Given the description of an element on the screen output the (x, y) to click on. 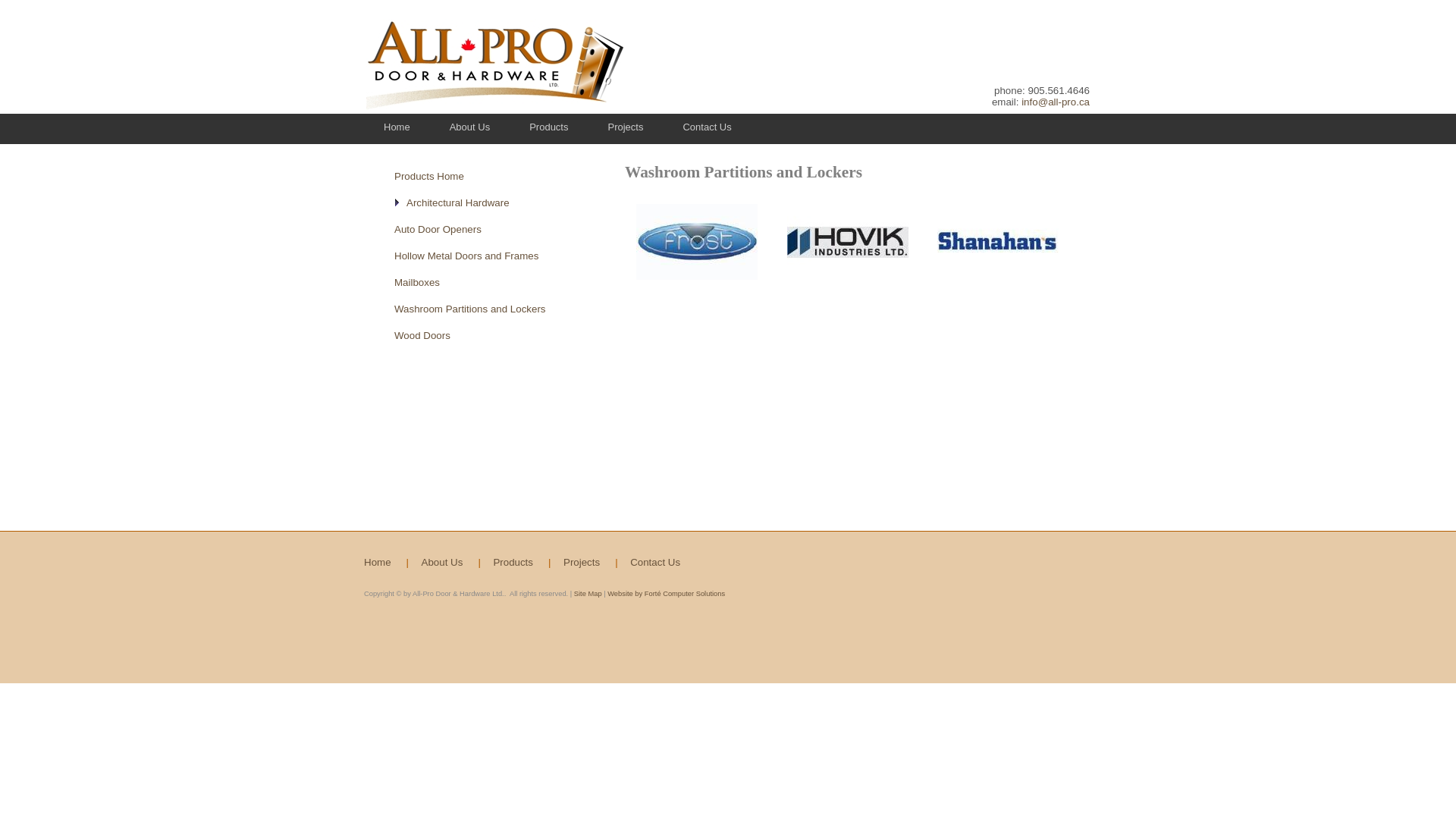
Expand (400, 200)
Washroom Partitions and Lockers (470, 308)
Mailboxes (416, 281)
Home (396, 126)
Projects (625, 126)
Wood Doors (421, 334)
Auto Door Openers (437, 228)
Products Home (429, 174)
Hollow Metal Doors and Frames (466, 255)
Products (548, 126)
About Us (469, 126)
Contact Us (706, 126)
Architectural Hardware (457, 202)
